Given the description of an element on the screen output the (x, y) to click on. 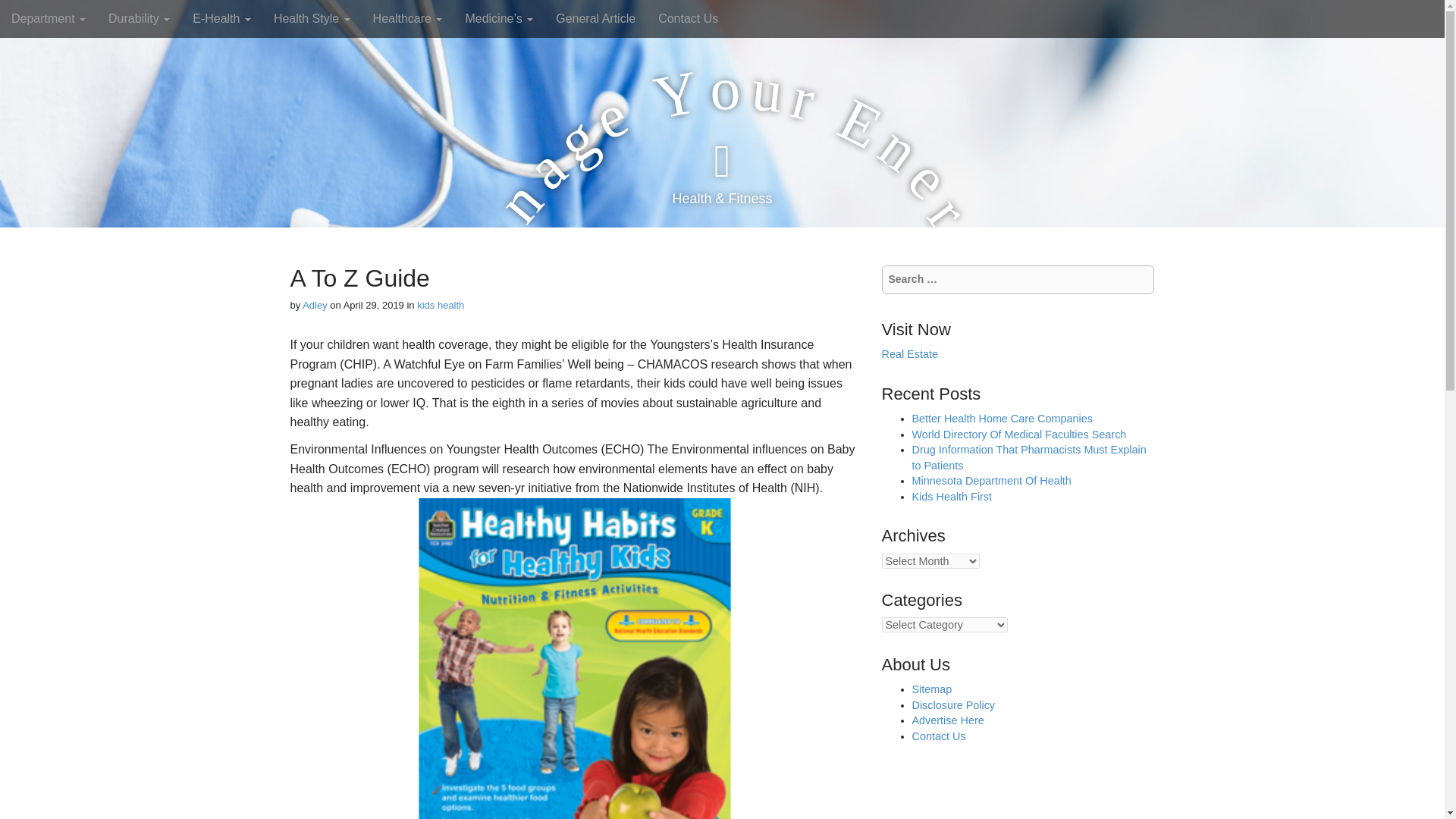
April 29, 2019 (373, 305)
kids health (440, 305)
Posts by Adley (314, 305)
Healthcare (407, 18)
Health Style (311, 18)
Adley (314, 305)
Durability (138, 18)
General Article (595, 18)
Search (23, 14)
E-Health (221, 18)
